Given the description of an element on the screen output the (x, y) to click on. 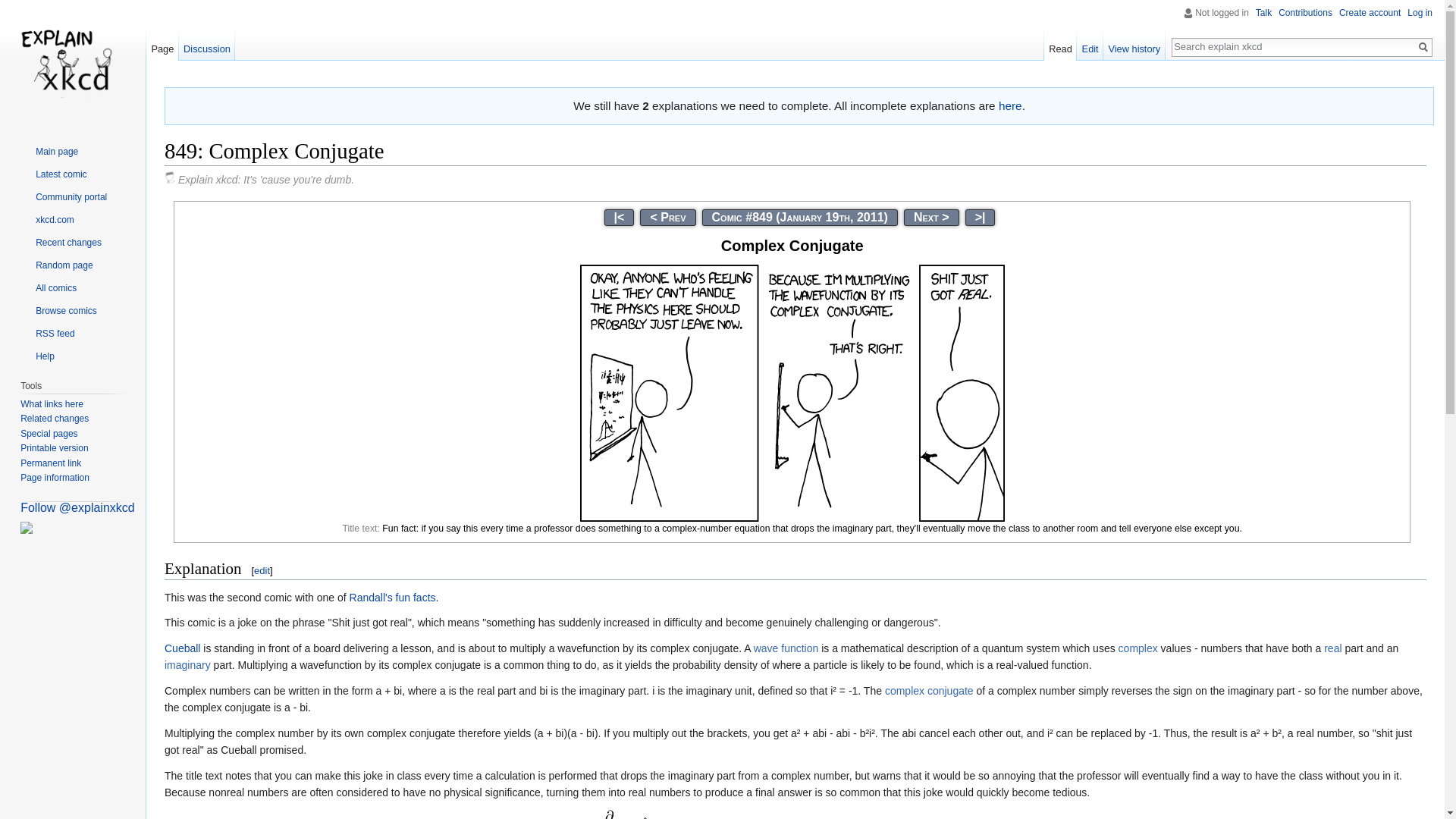
Go (1423, 46)
wikipedia:Complex number (1137, 648)
Category:Fun fact (415, 597)
wikipedia:Imaginary number (187, 664)
edit (261, 570)
wikipedia:Wave function (786, 648)
Randall (371, 597)
Category:Incomplete explanations (1010, 105)
here (1010, 105)
